Given the description of an element on the screen output the (x, y) to click on. 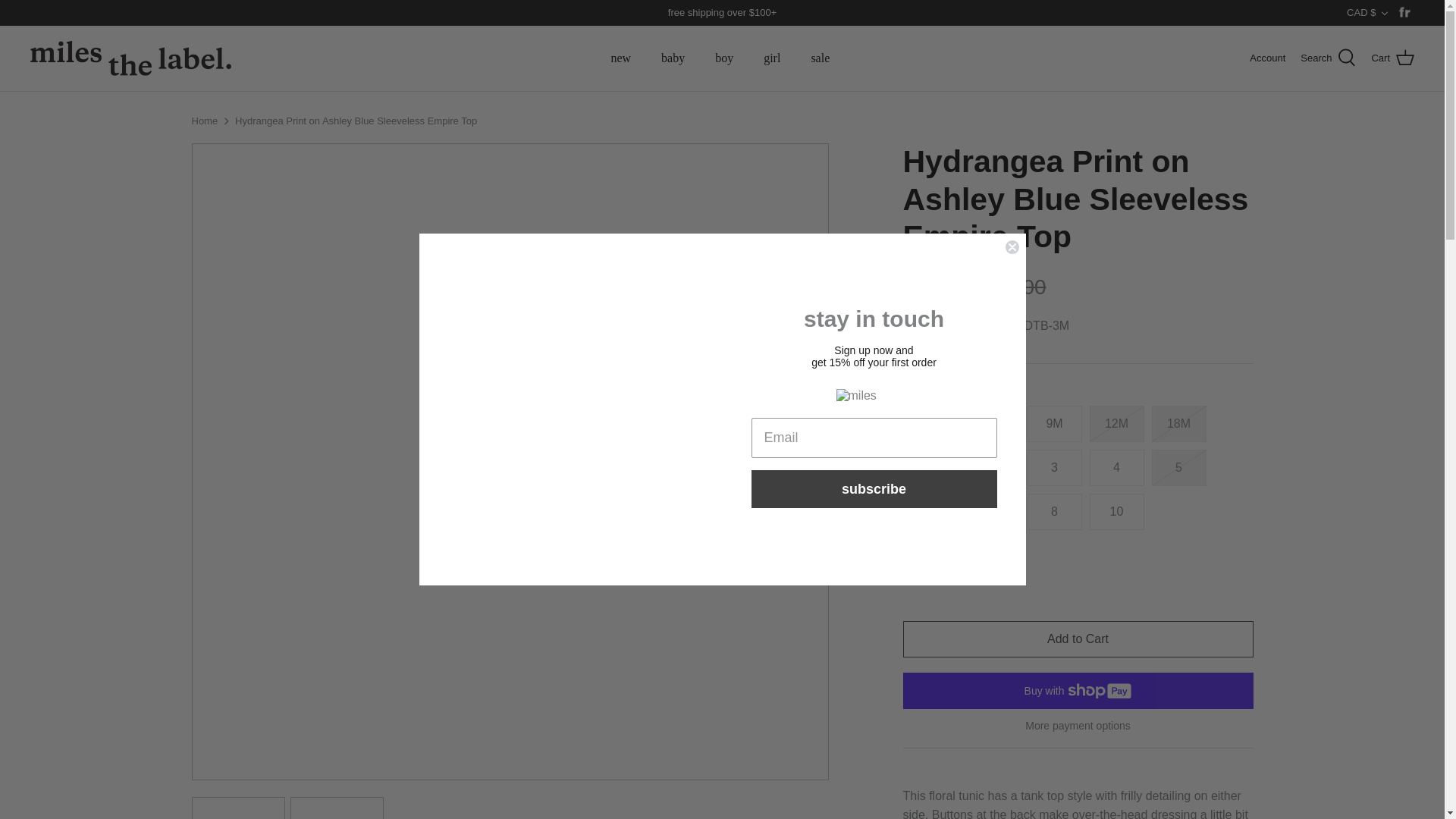
Search (1327, 57)
new (620, 58)
Account (1267, 58)
boy (723, 58)
miles the label (130, 58)
sale (819, 58)
Right (811, 461)
baby (672, 58)
girl (771, 58)
Down (1384, 13)
Cart (1392, 57)
